Given the description of an element on the screen output the (x, y) to click on. 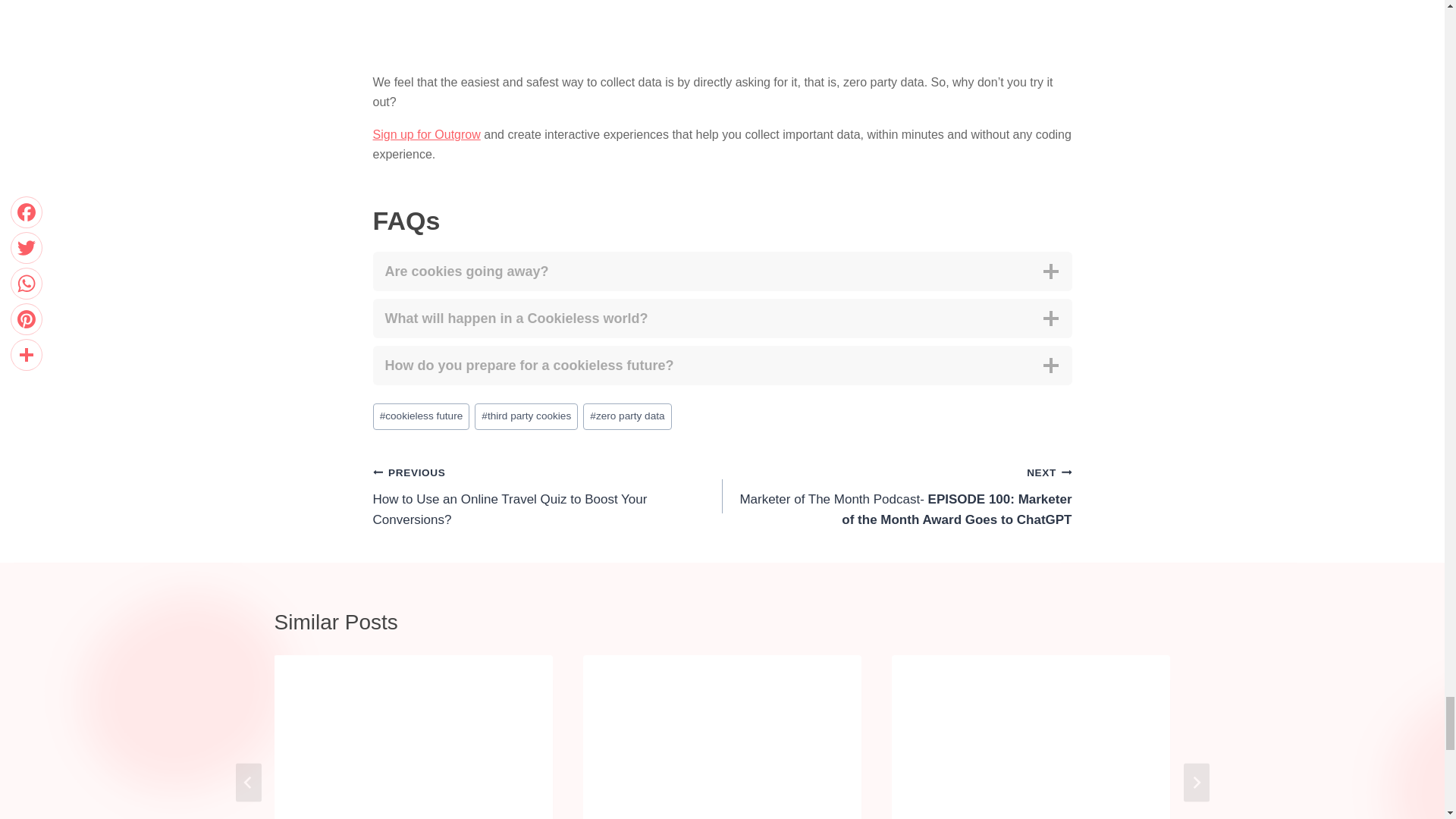
cookieless future (421, 416)
third party cookies (526, 416)
zero party data (627, 416)
